Given the description of an element on the screen output the (x, y) to click on. 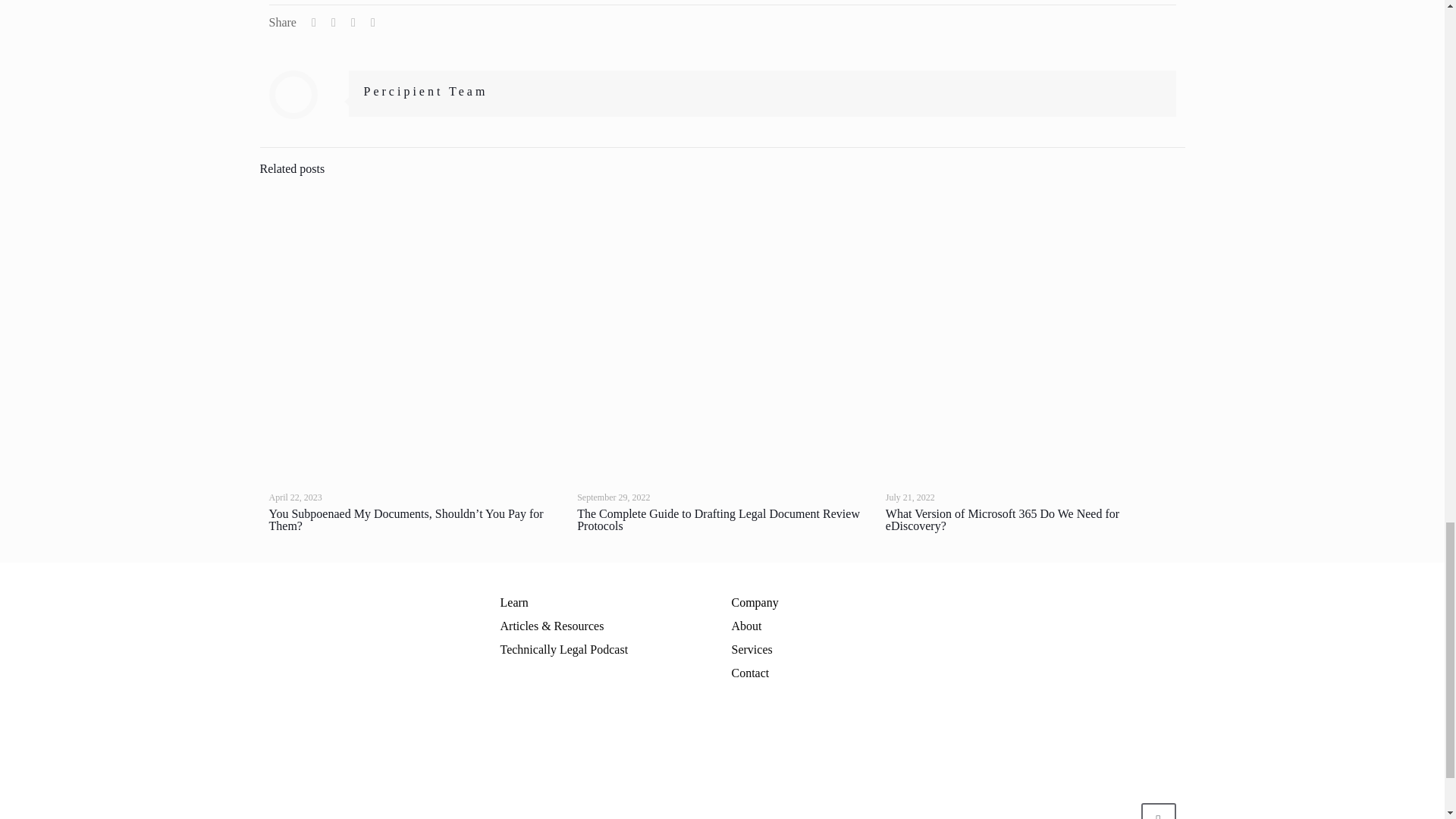
Services (750, 649)
What Version of Microsoft 365 Do We Need for eDiscovery? (1002, 519)
Contact (749, 672)
About (745, 625)
Percipient Team (425, 91)
Technically Legal Podcast (564, 649)
